Given the description of an element on the screen output the (x, y) to click on. 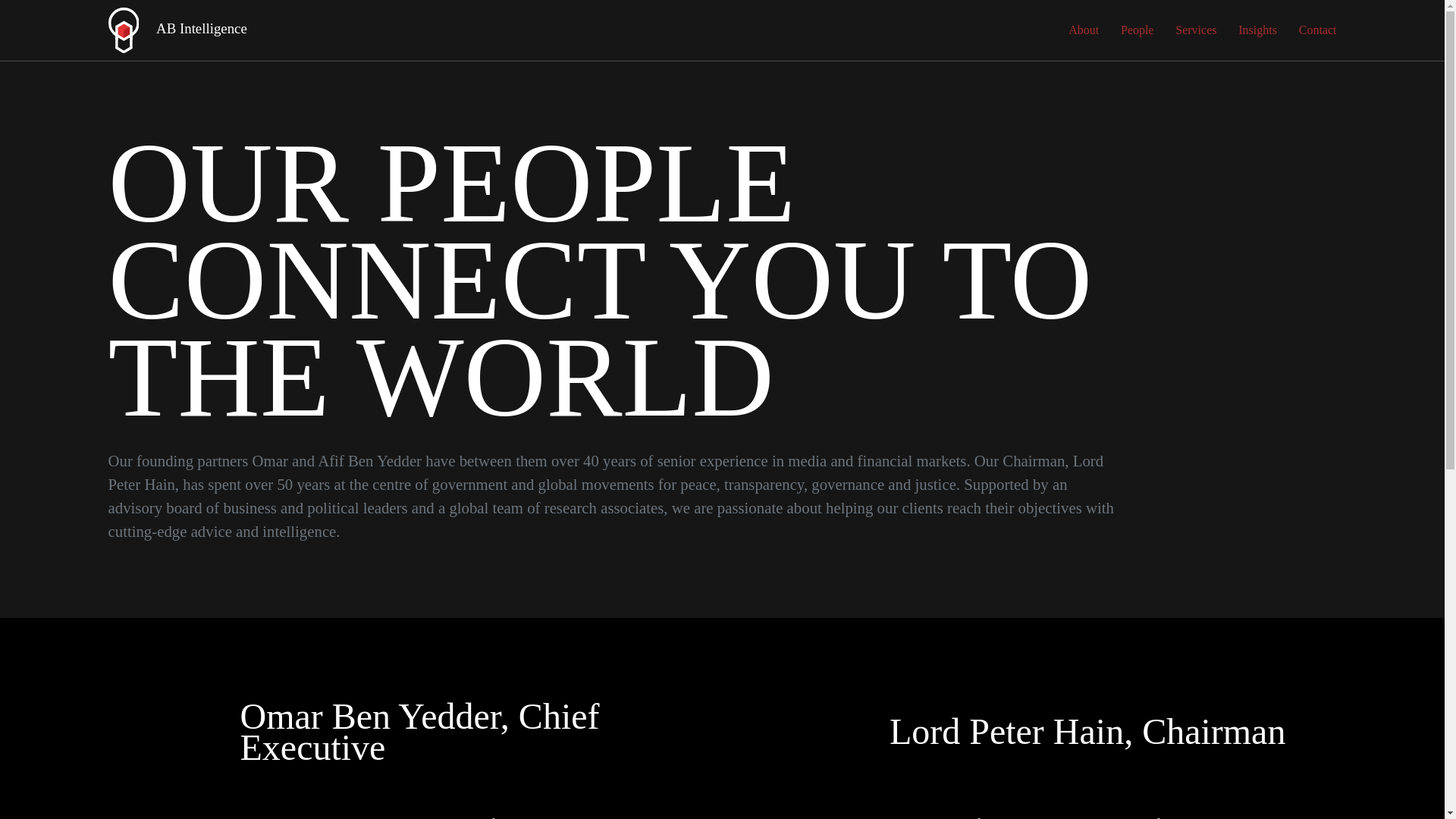
People (1137, 30)
Insights (1257, 30)
Services (1194, 30)
AB Intelligence (176, 30)
About (1083, 30)
Contact (1317, 30)
